Given the description of an element on the screen output the (x, y) to click on. 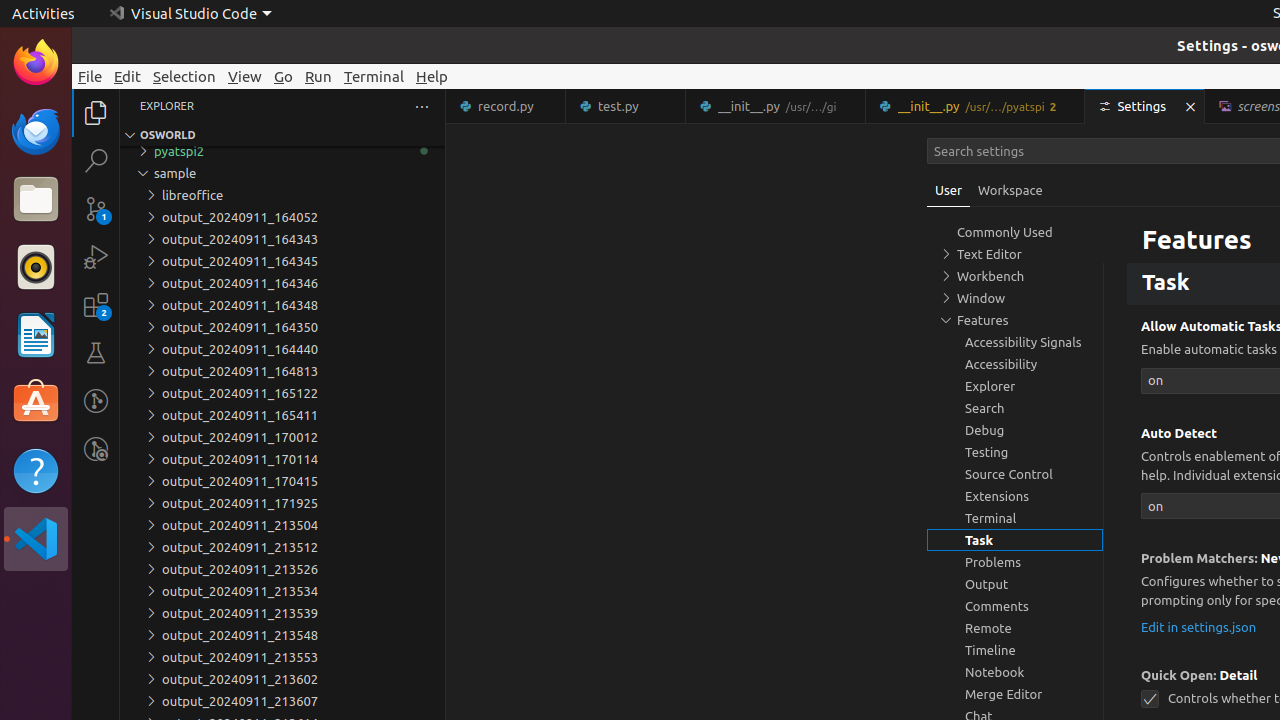
output_20240911_213512 Element type: tree-item (282, 547)
pyatspi2 Element type: tree-item (282, 151)
Commonly Used, group Element type: tree-item (1015, 232)
output_20240911_213526 Element type: tree-item (282, 569)
